Given the description of an element on the screen output the (x, y) to click on. 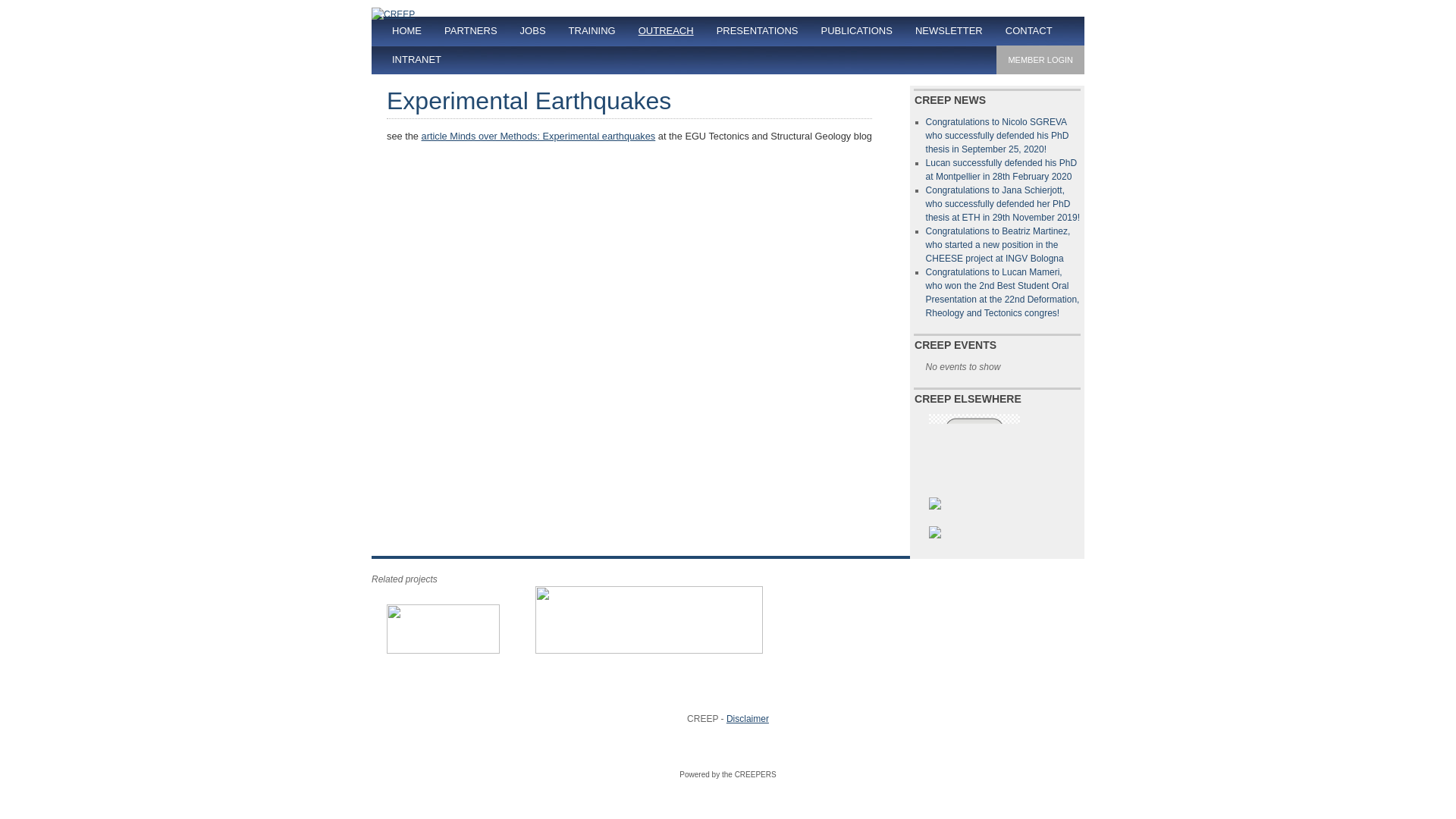
TRAINING (592, 30)
PARTNERS (470, 30)
CREEP (392, 14)
OUTREACH (665, 30)
JOBS (532, 30)
HOME (406, 30)
